Given the description of an element on the screen output the (x, y) to click on. 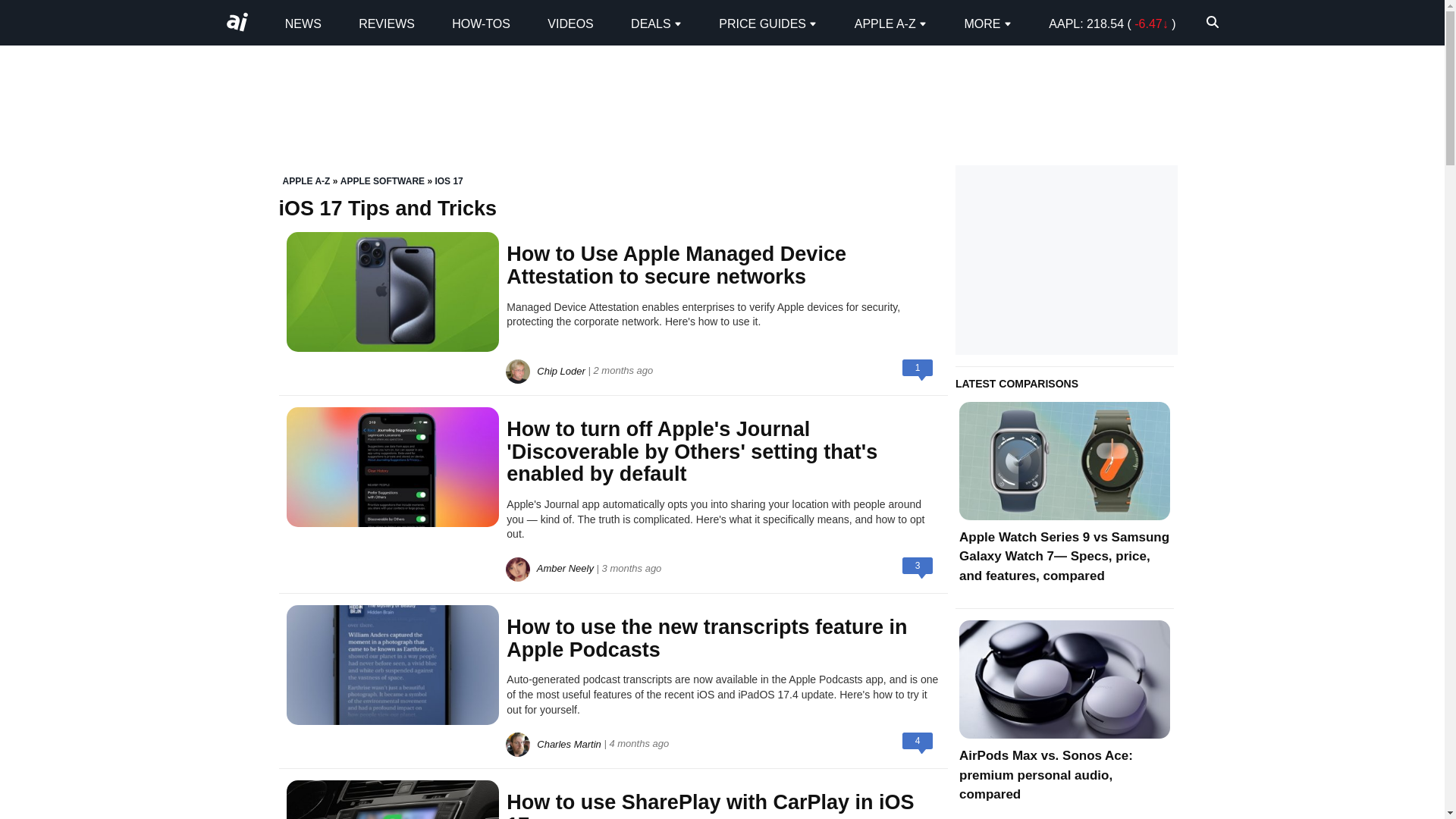
How-Tos (481, 23)
Videos (569, 23)
Reviews (386, 23)
VIDEOS (569, 23)
News (303, 23)
NEWS (303, 23)
HOW-TOS (481, 23)
REVIEWS (386, 23)
